Given the description of an element on the screen output the (x, y) to click on. 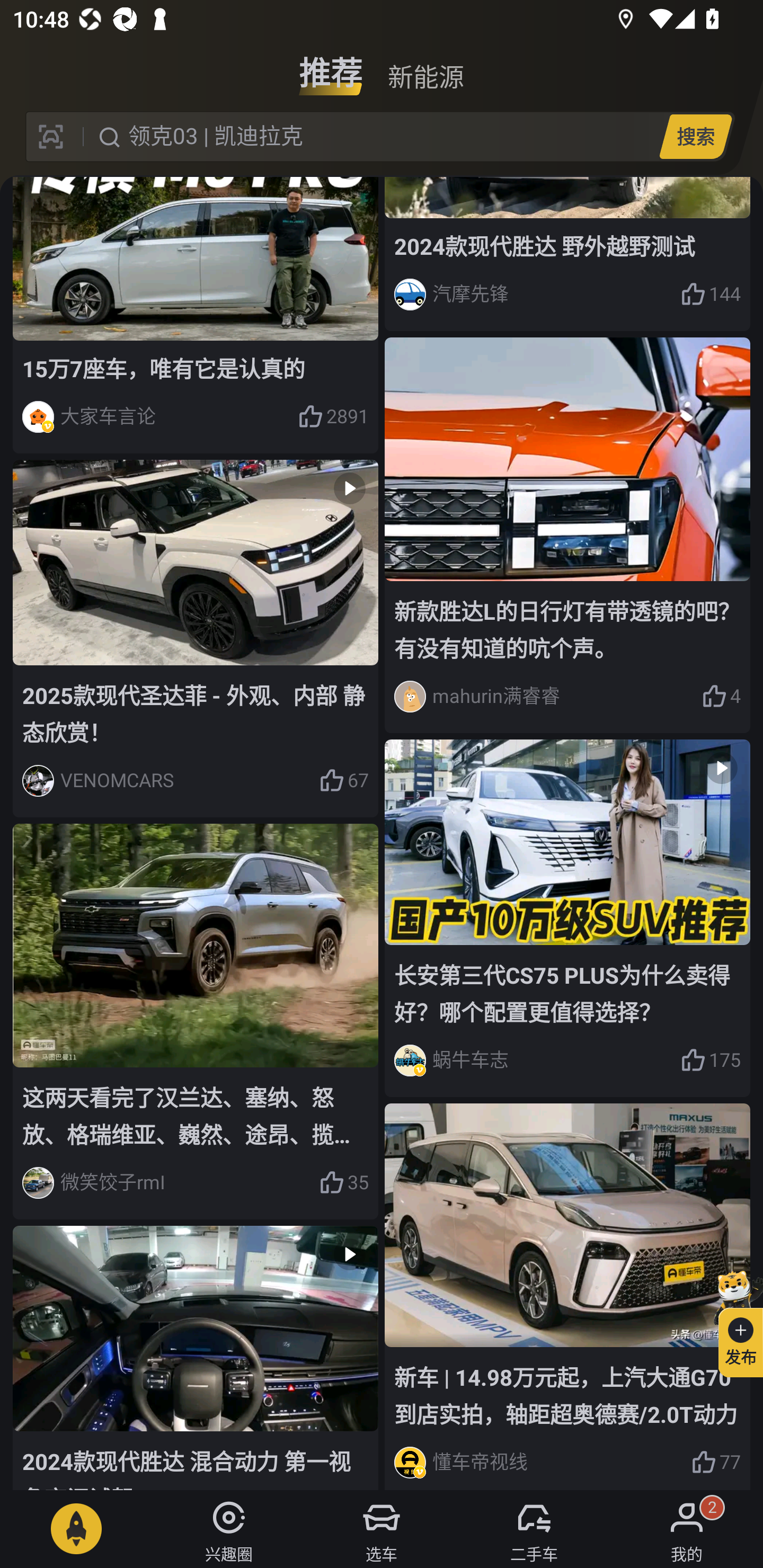
推荐 (330, 65)
新能源 (425, 65)
搜索 (695, 136)
 15万7座车，唯有它是认真的 大家车言论 2891 (195, 315)
2024款现代胜达 野外越野测试 汽摩先锋 144 (567, 253)
144 (710, 294)
新款胜达L的日行灯有带透镜的吧？有没有知道的吭个声。 mahurin满睿睿 4 (567, 535)
2891 (332, 416)
 2025款现代圣达菲 - 外观、内部 静态欣赏！ VENOMCARS 67 (195, 637)
4 (720, 695)
 长安第三代CS75 PLUS为什么卖得好？哪个配置更值得选择？ 蜗牛车志 175 (567, 918)
67 (343, 780)
175 (710, 1060)
新车 | 14.98万元起，上汽大通G70到店实拍，轴距超奥德赛/2.0T动力 懂车帝视线 77 (567, 1296)
35 (343, 1182)
 2024款现代胜达 混合动力 第一视角夜间试驾 (195, 1357)
发布 (732, 1321)
77 (715, 1462)
 兴趣圈 (228, 1528)
 选车 (381, 1528)
 二手车 (533, 1528)
 我的 (686, 1528)
